Given the description of an element on the screen output the (x, y) to click on. 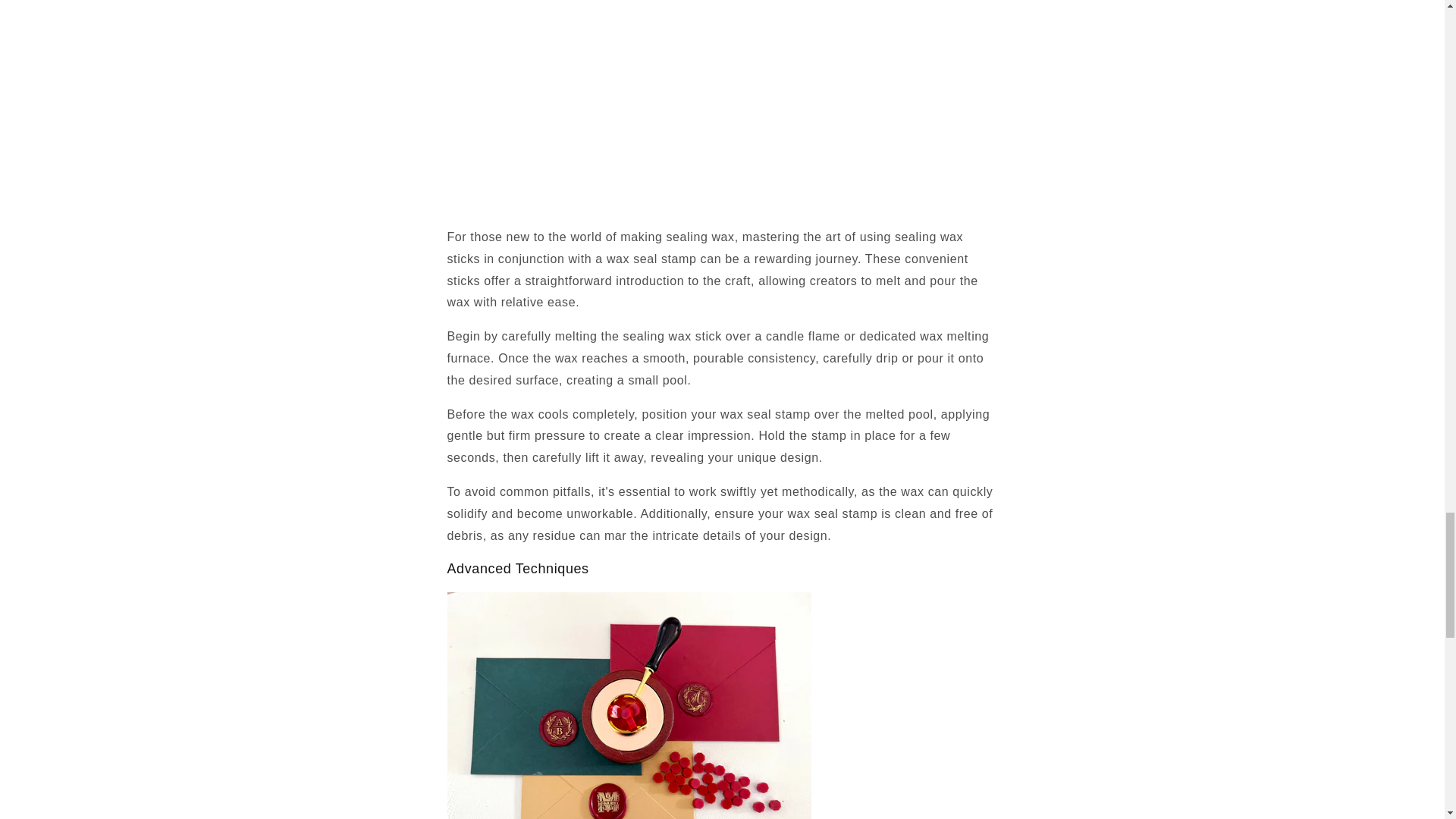
YouTube video player (659, 103)
